Given the description of an element on the screen output the (x, y) to click on. 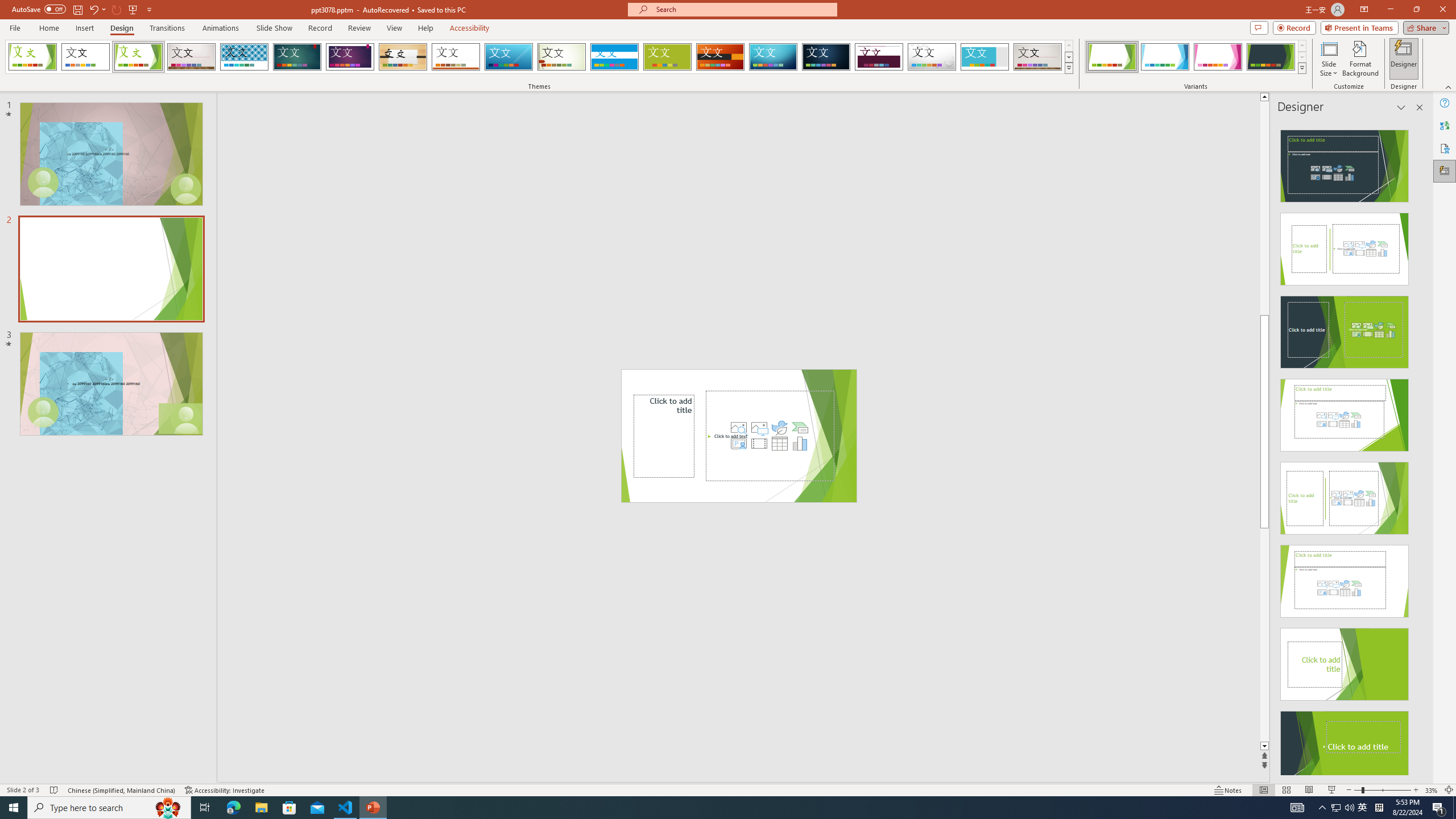
Zoom 33% (1431, 790)
Frame (984, 56)
Variants (1301, 67)
Retrospect (455, 56)
Droplet (931, 56)
AutomationID: SlideThemesGallery (539, 56)
Class: NetUIScrollBar (1418, 447)
